Given the description of an element on the screen output the (x, y) to click on. 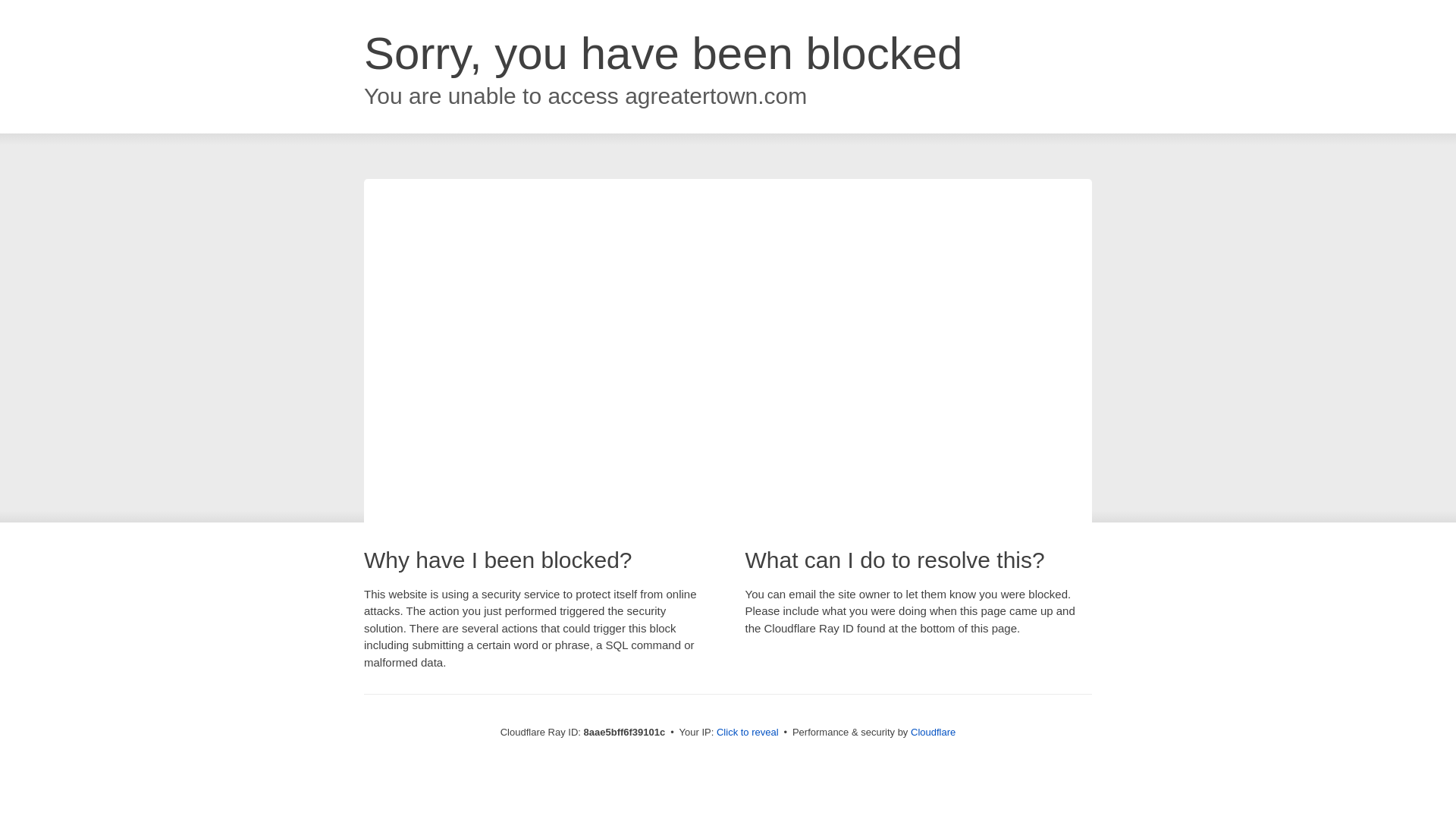
Click to reveal (747, 732)
Cloudflare (933, 731)
